Given the description of an element on the screen output the (x, y) to click on. 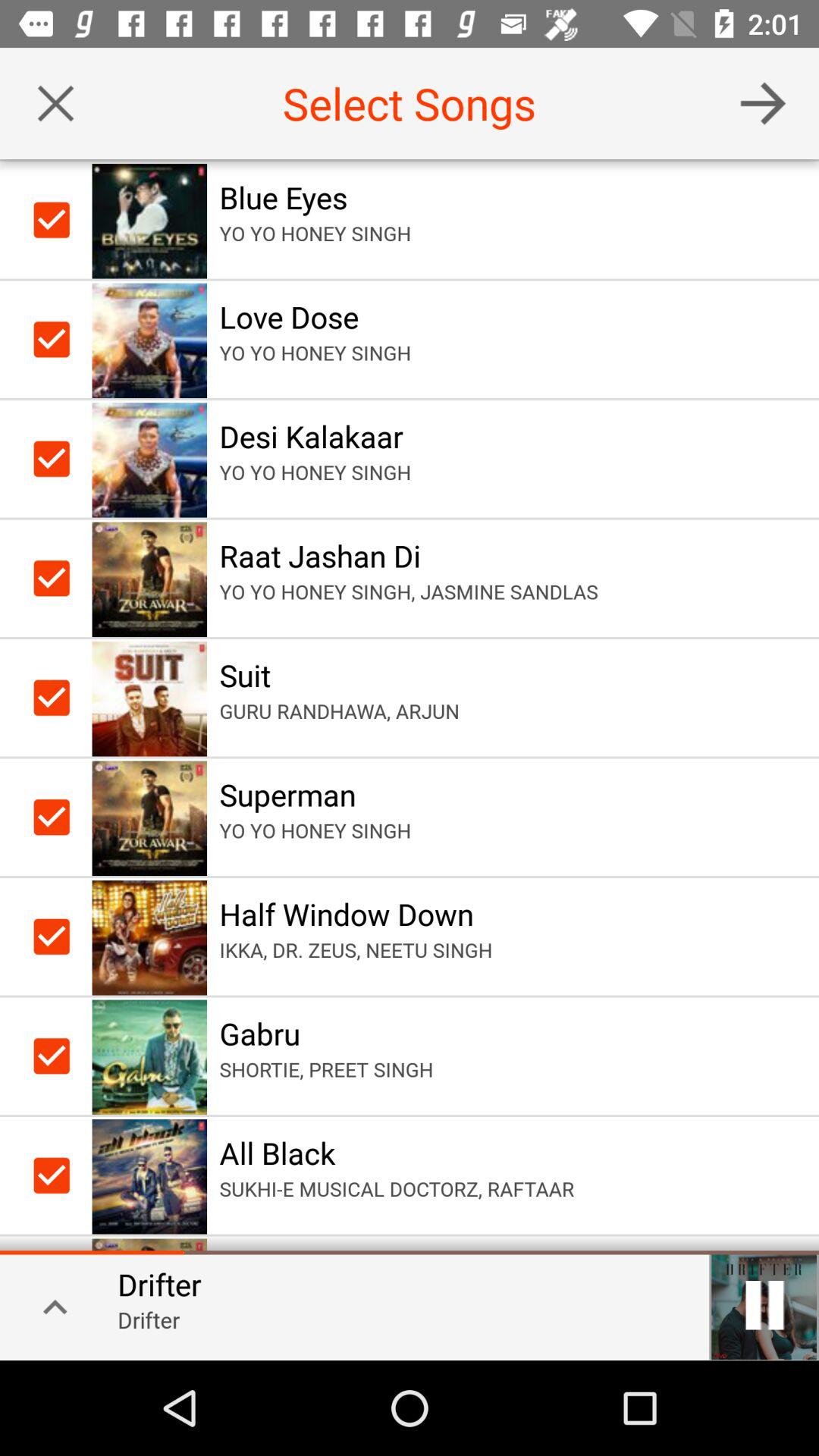
cancel selected songs (55, 103)
